Given the description of an element on the screen output the (x, y) to click on. 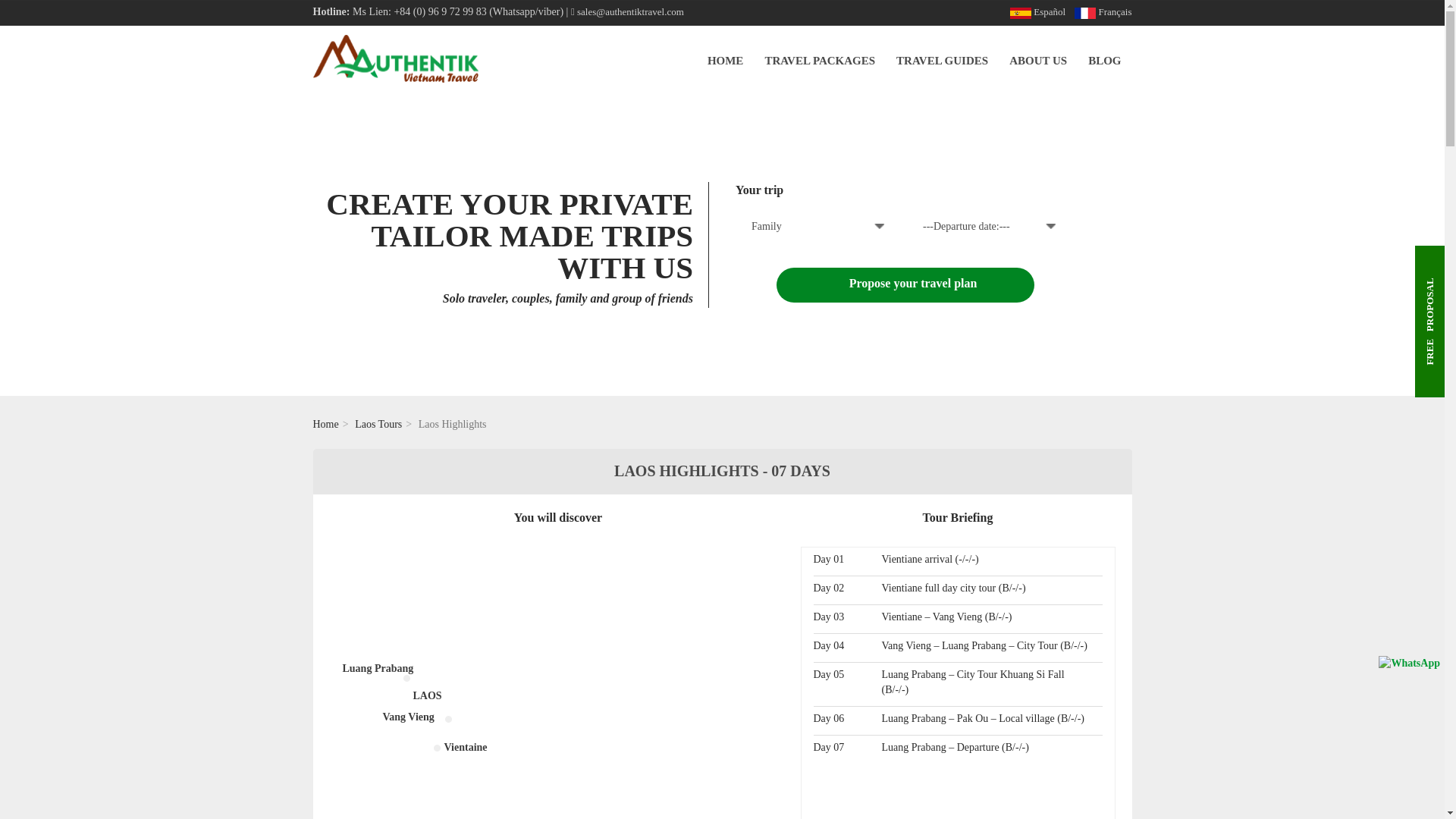
Propose your travel plan (904, 284)
Home (325, 423)
TRAVEL PACKAGES (819, 60)
ABOUT US (1037, 60)
TRAVEL GUIDES (941, 60)
Laos Tours (378, 423)
BLOG (1104, 60)
HOME (725, 60)
